Given the description of an element on the screen output the (x, y) to click on. 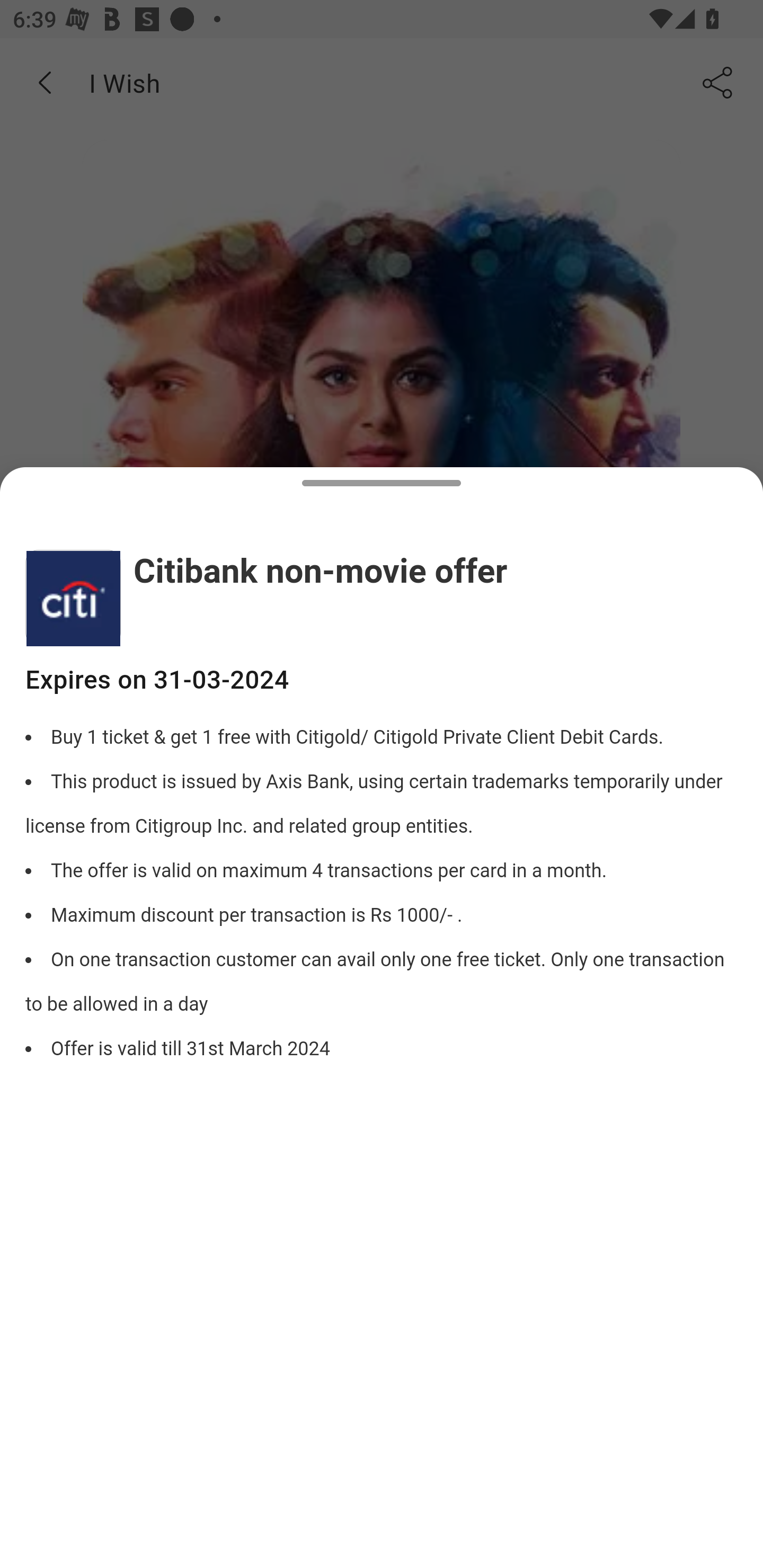
Expires on 31-03-2024 (381, 680)
